Given the description of an element on the screen output the (x, y) to click on. 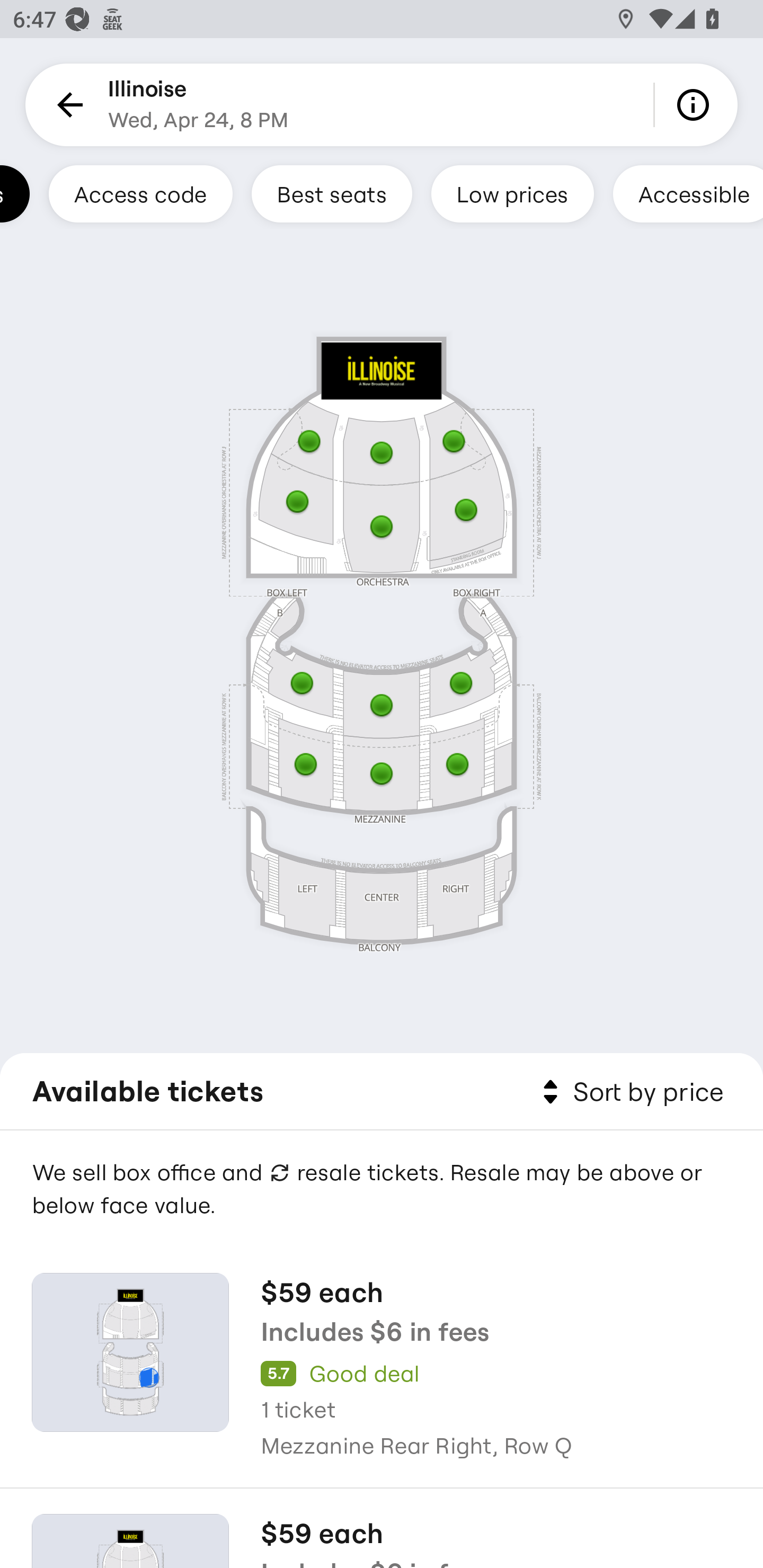
Back (66, 104)
Illinoise Wed, Apr 24, 8 PM (198, 104)
Info (695, 104)
Access code (140, 193)
Best seats (331, 193)
Low prices (512, 193)
Accessible (687, 193)
Sort by price (629, 1091)
